Given the description of an element on the screen output the (x, y) to click on. 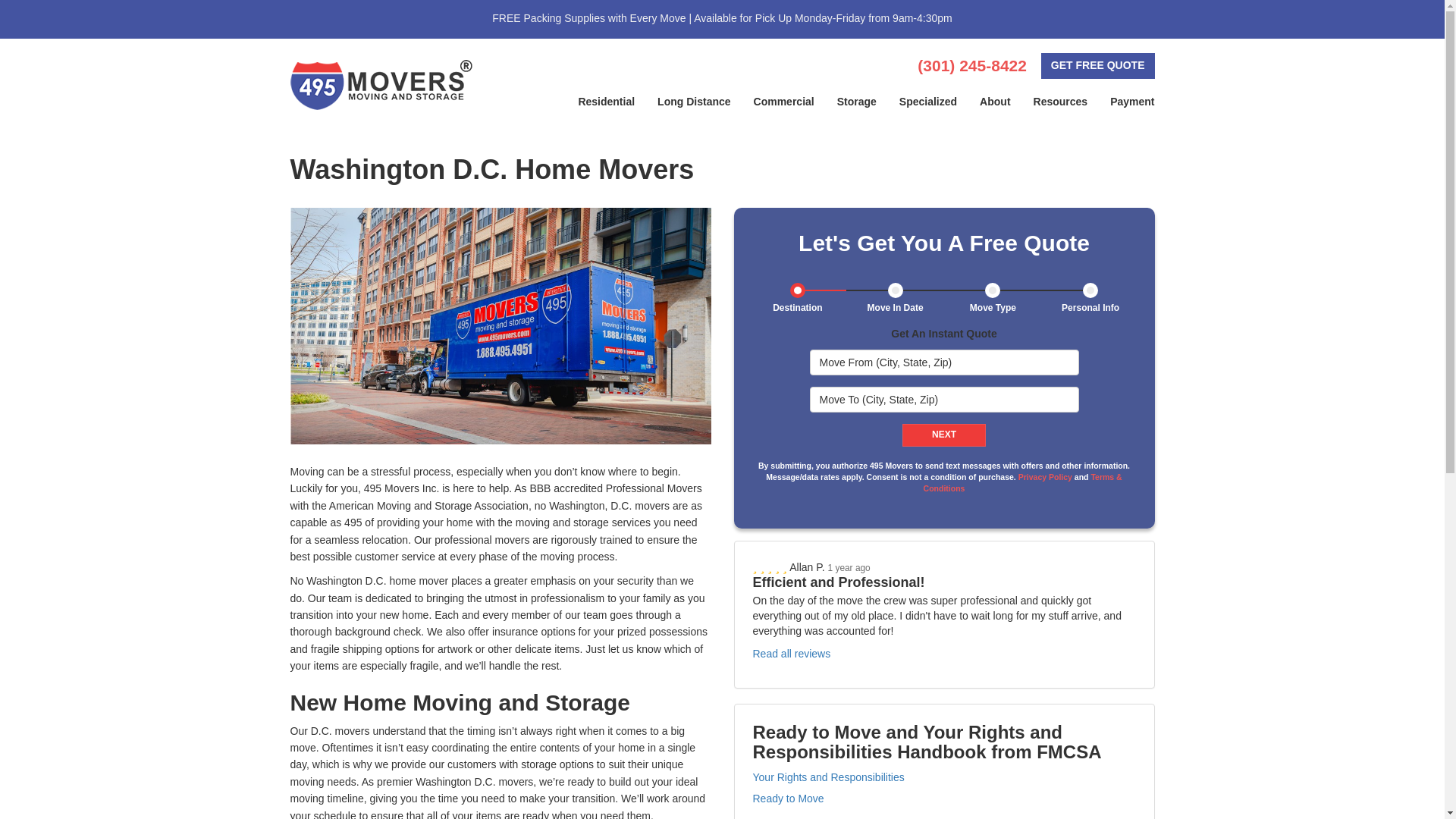
GET FREE QUOTE (1097, 65)
Long Distance (693, 101)
Commercial (783, 101)
5 Stars (770, 567)
Payment (1132, 101)
Specialized (928, 101)
About (995, 101)
GET FREE QUOTE (1097, 65)
Residential (606, 101)
Storage (856, 101)
Resources (1060, 101)
Apartment Move (499, 326)
